Given the description of an element on the screen output the (x, y) to click on. 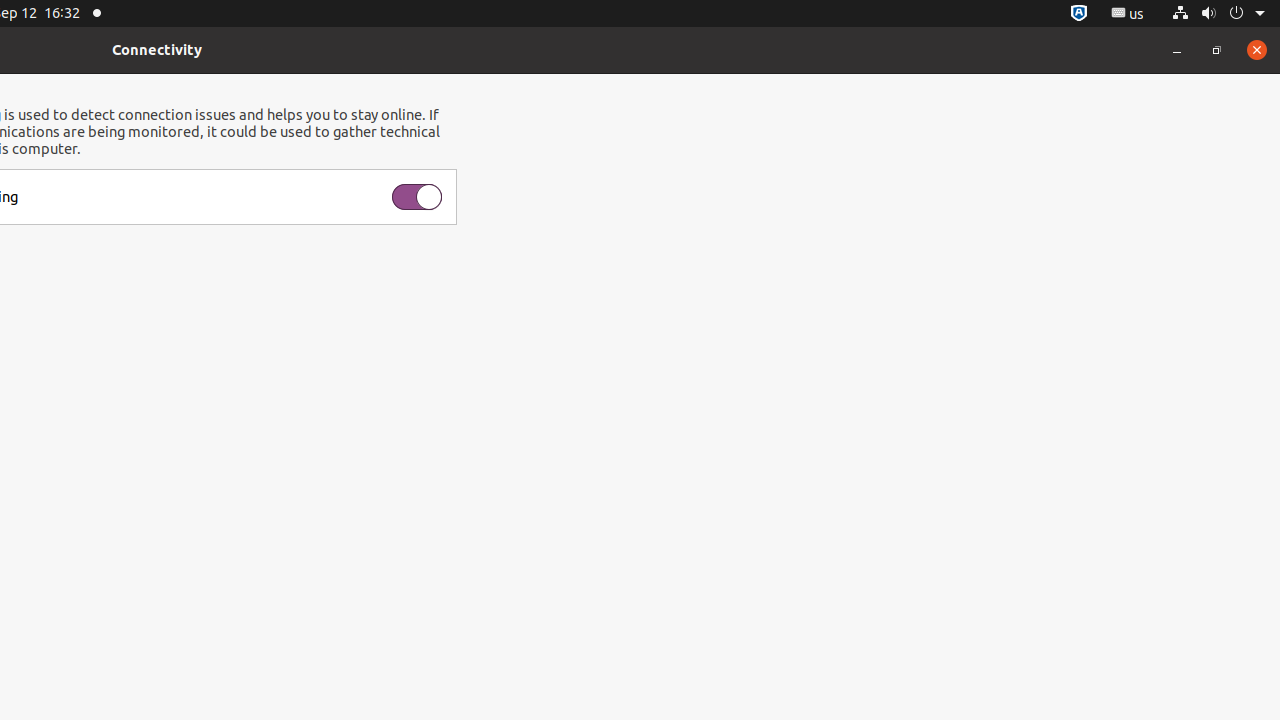
Close Element type: push-button (1257, 50)
